Given the description of an element on the screen output the (x, y) to click on. 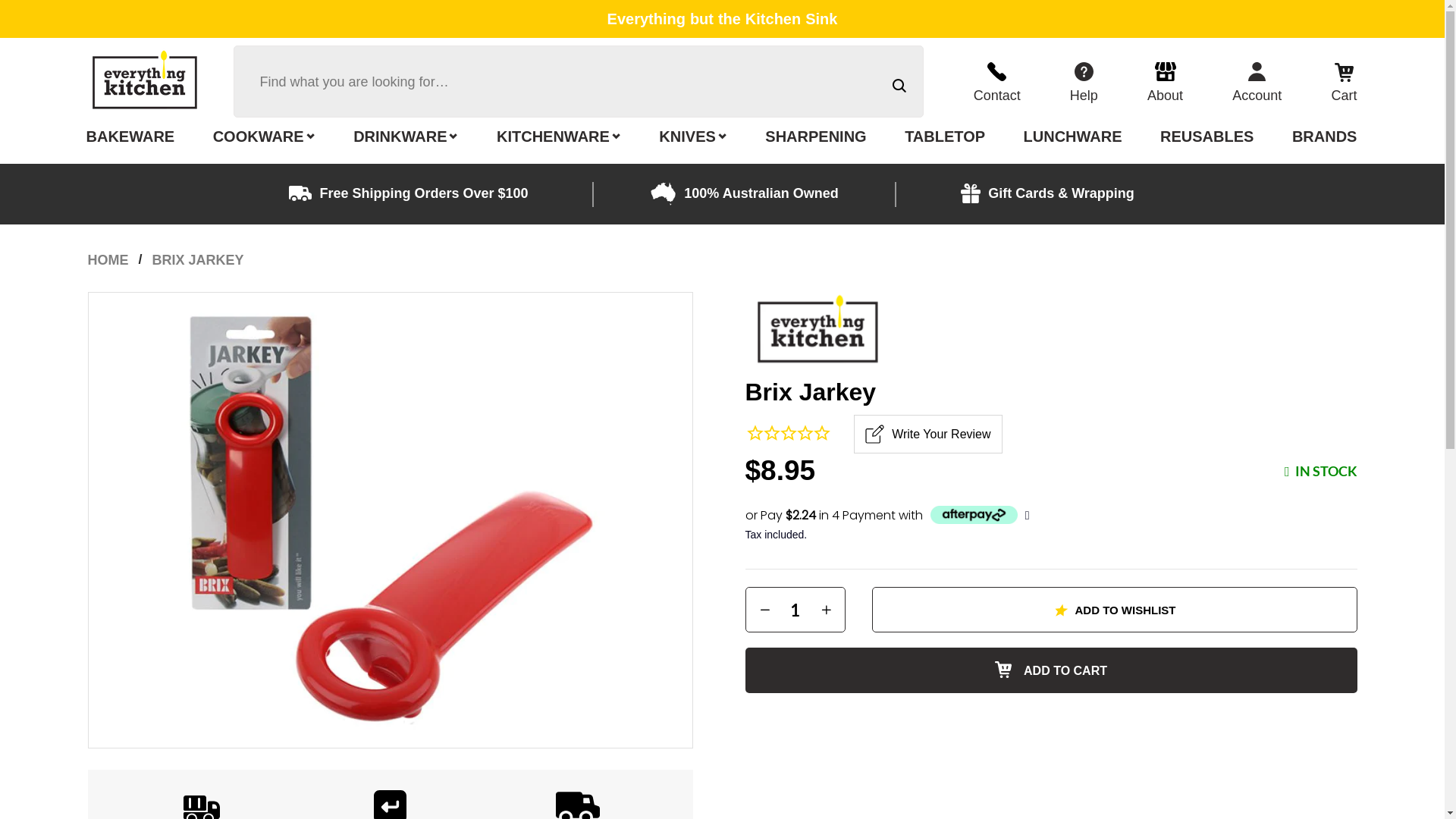
COOKWARE Element type: text (264, 138)
About Element type: text (1165, 81)
DRINKWARE Element type: text (405, 138)
Free Shipping Orders Over $100 Element type: text (423, 193)
KITCHENWARE Element type: text (558, 138)
Write Your Review Element type: text (928, 433)
LUNCHWARE Element type: text (1072, 138)
REUSABLES Element type: text (1206, 138)
Account Element type: text (1256, 81)
Contact Element type: text (996, 81)
Help Element type: text (1083, 81)
HOME Element type: text (107, 259)
ADD TO CART Element type: text (1050, 670)
BAKEWARE Element type: text (130, 138)
SHARPENING Element type: text (815, 138)
BRANDS Element type: text (1321, 138)
TABLETOP Element type: text (944, 138)
ADD TO WISHLIST Element type: text (1114, 609)
KNIVES Element type: text (692, 138)
Cart Icon
Cart Element type: text (1340, 81)
